Given the description of an element on the screen output the (x, y) to click on. 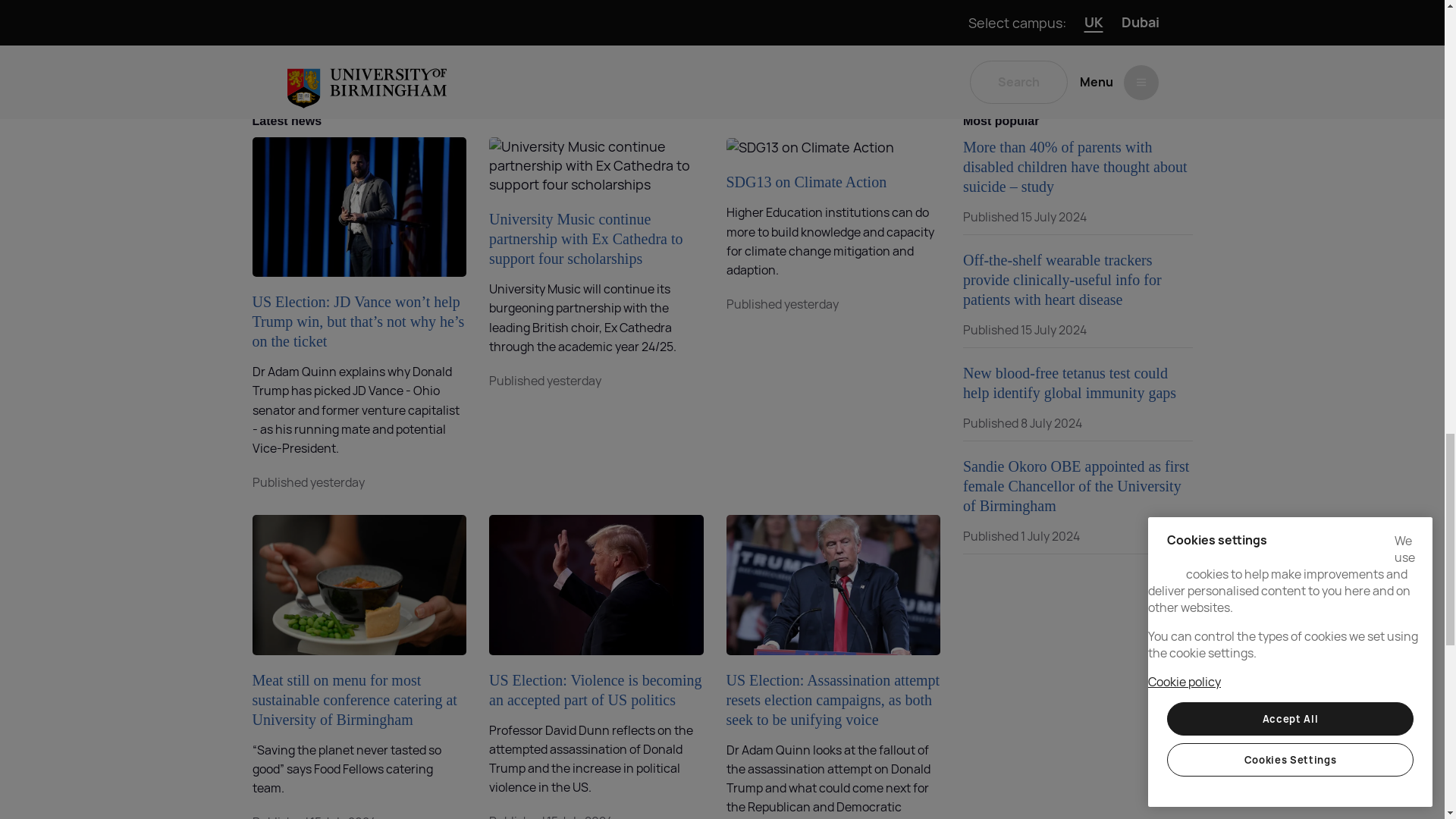
Maren Rohe (549, 21)
Nicholas Martin (652, 4)
Charlotte Galpin (818, 4)
Visit the project web page for further information. (630, 57)
Tara Windsor (700, 21)
Tara Windsor (700, 21)
Nick Martin (652, 4)
